Given the description of an element on the screen output the (x, y) to click on. 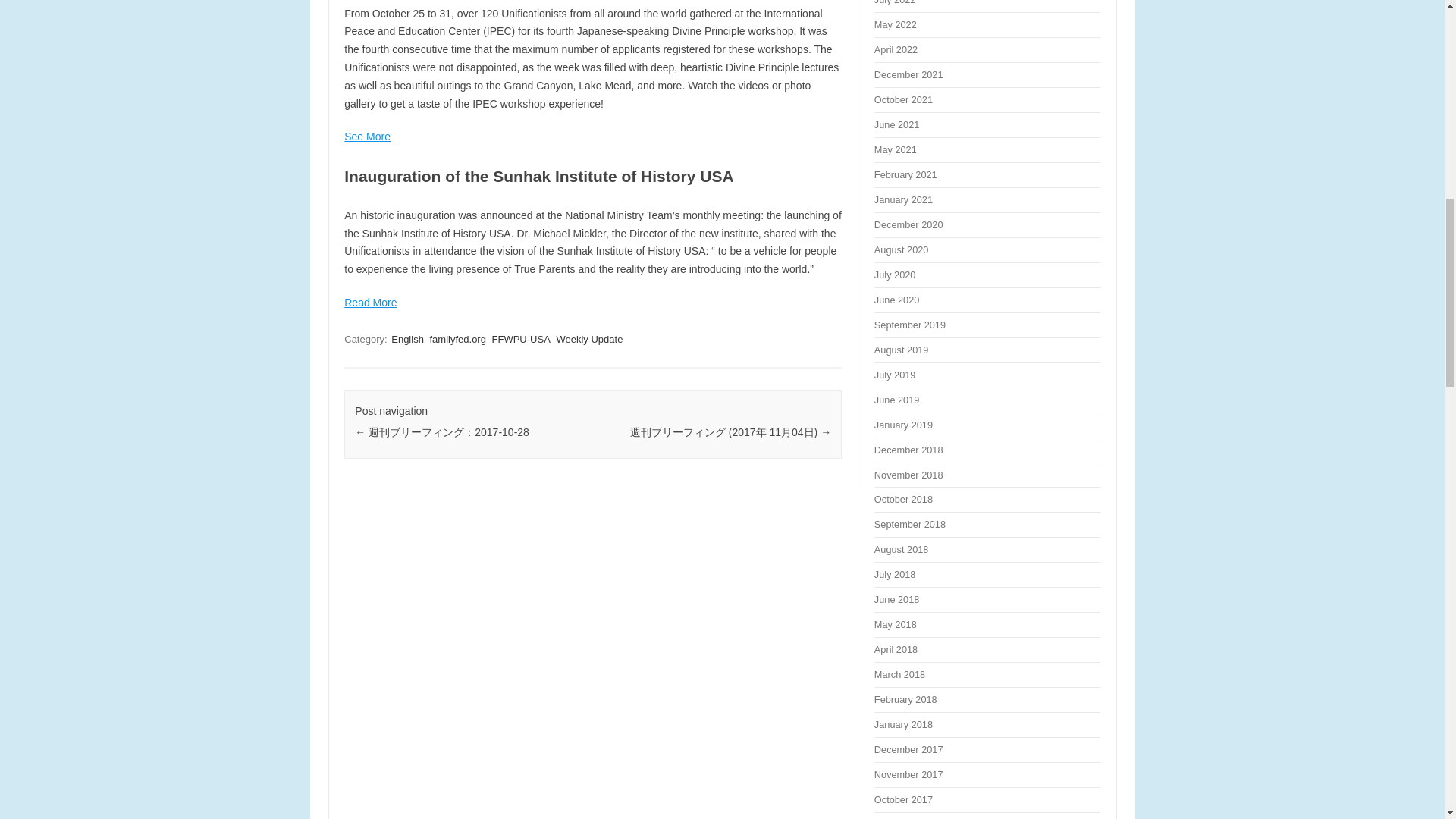
familyfed.org (457, 339)
Weekly Update (589, 339)
English (407, 339)
See More (366, 136)
FFWPU-USA (520, 339)
Read More (369, 302)
